Given the description of an element on the screen output the (x, y) to click on. 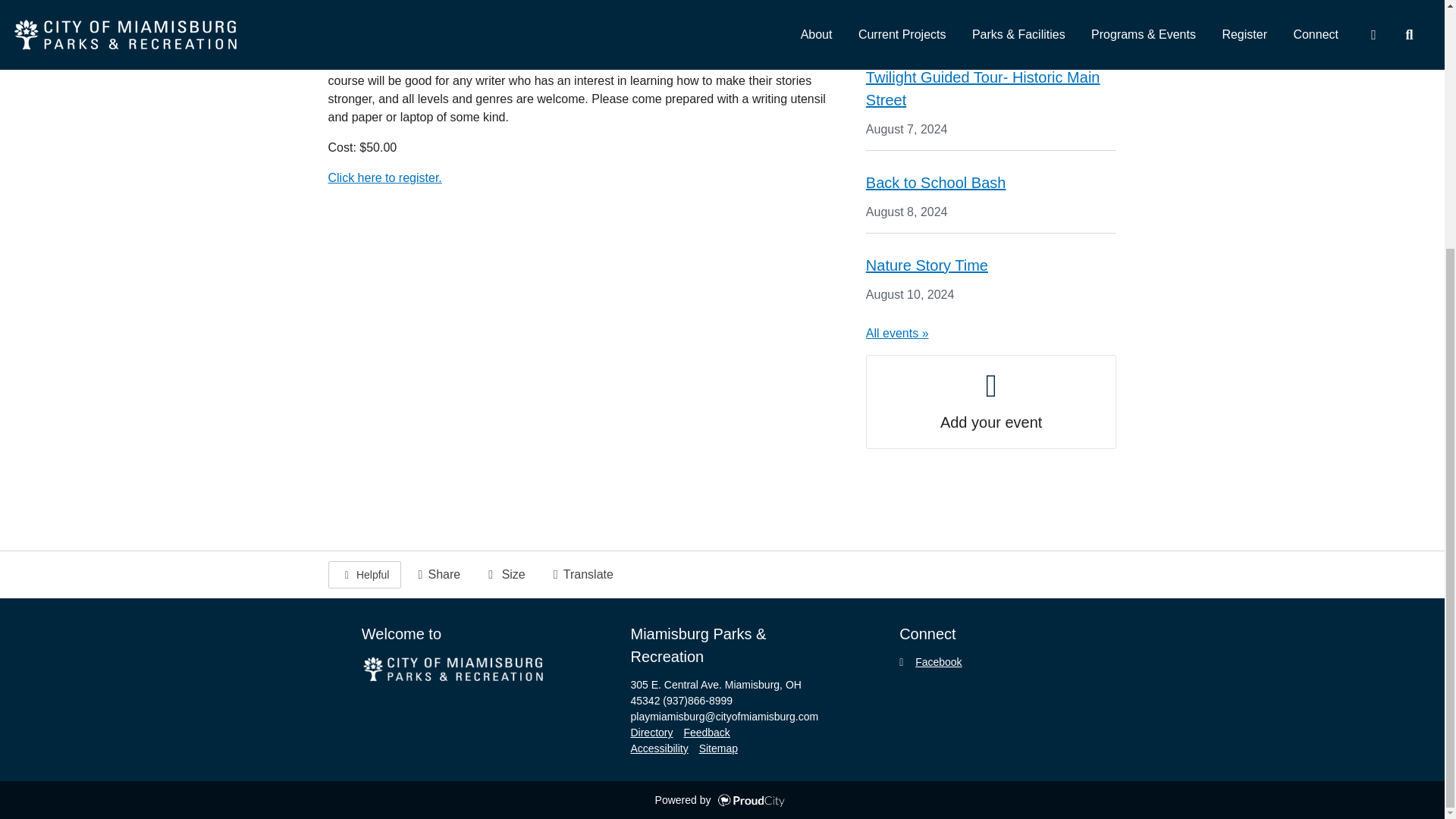
Share (436, 574)
Add your event (991, 401)
Pound (888, 1)
Twilight Guided Tour- Historic Main Street (983, 88)
Translate (580, 574)
Nature Story Time (927, 265)
Click here to register. (384, 177)
Size (504, 574)
This page makes me proud (364, 574)
Back to School Bash (936, 182)
Helpful (364, 574)
